Given the description of an element on the screen output the (x, y) to click on. 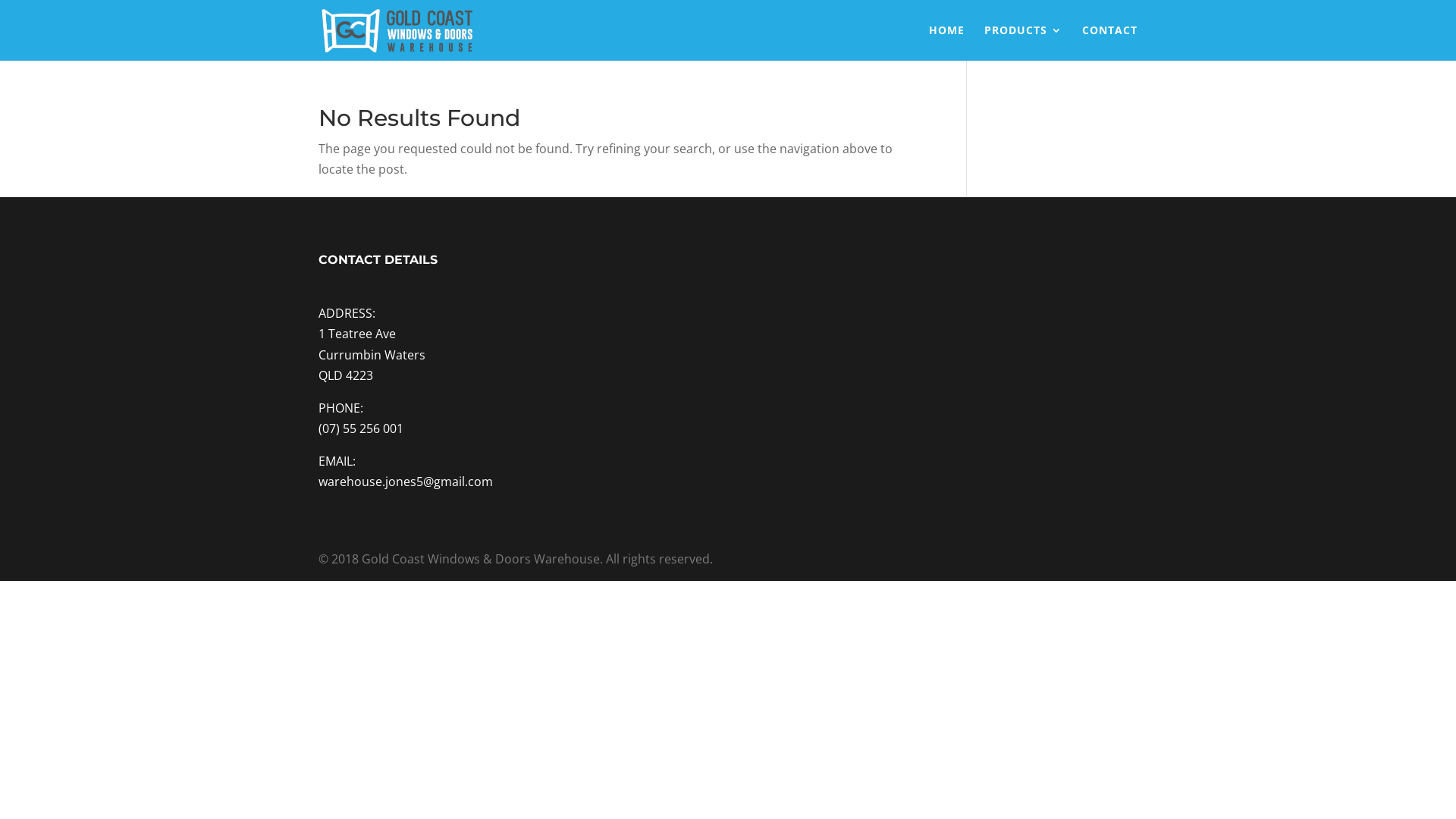
warehouse.jones5@gmail.com Element type: text (405, 481)
(07) 55 256 001 Element type: text (360, 428)
CONTACT Element type: text (1109, 42)
PRODUCTS Element type: text (1023, 42)
HOME Element type: text (946, 42)
